Given the description of an element on the screen output the (x, y) to click on. 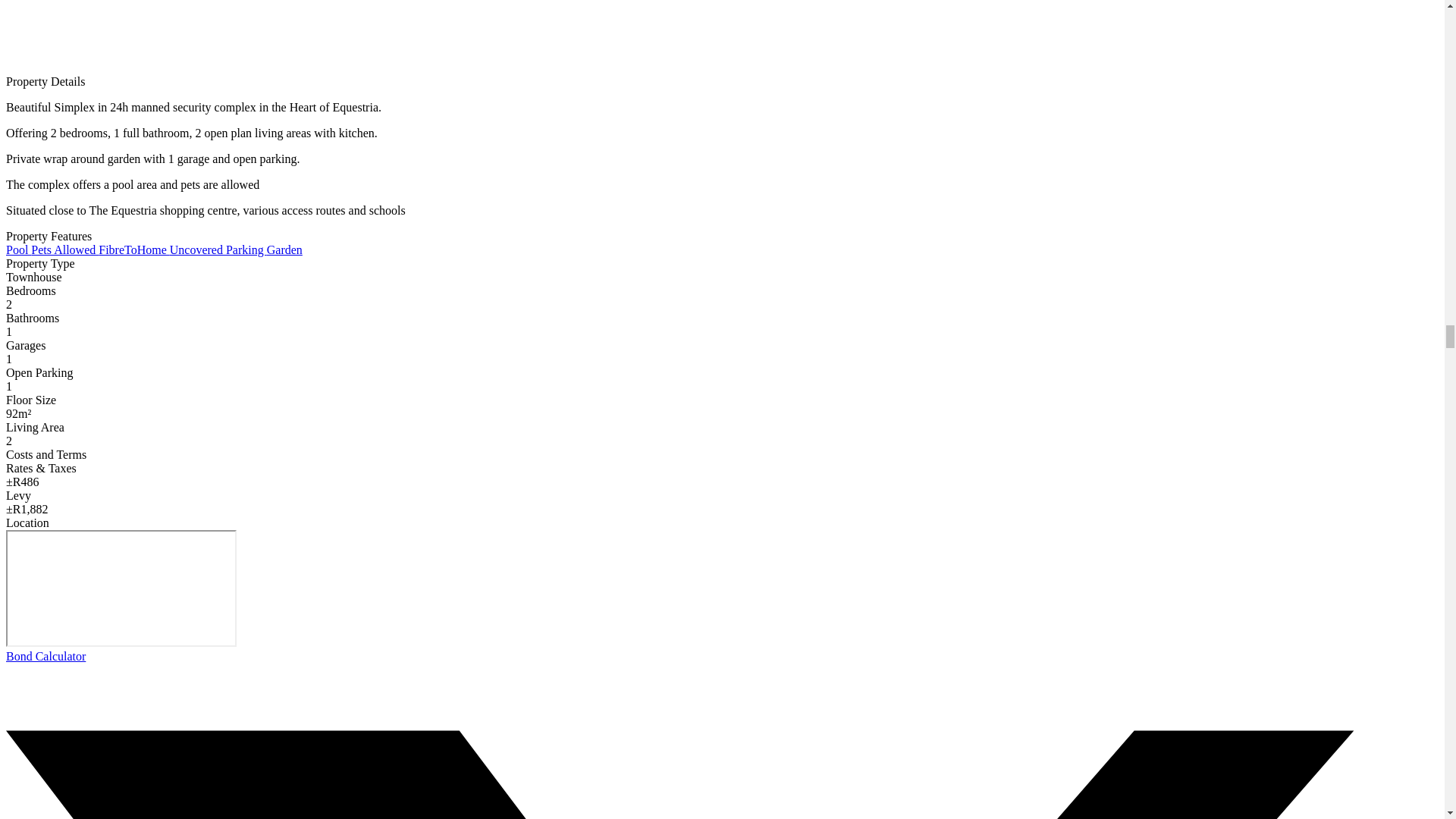
Uncovered Parking (218, 249)
Bond Calculator (45, 656)
Pool (17, 249)
Pets Allowed (64, 249)
FibreToHome (134, 249)
Garden (284, 249)
